Given the description of an element on the screen output the (x, y) to click on. 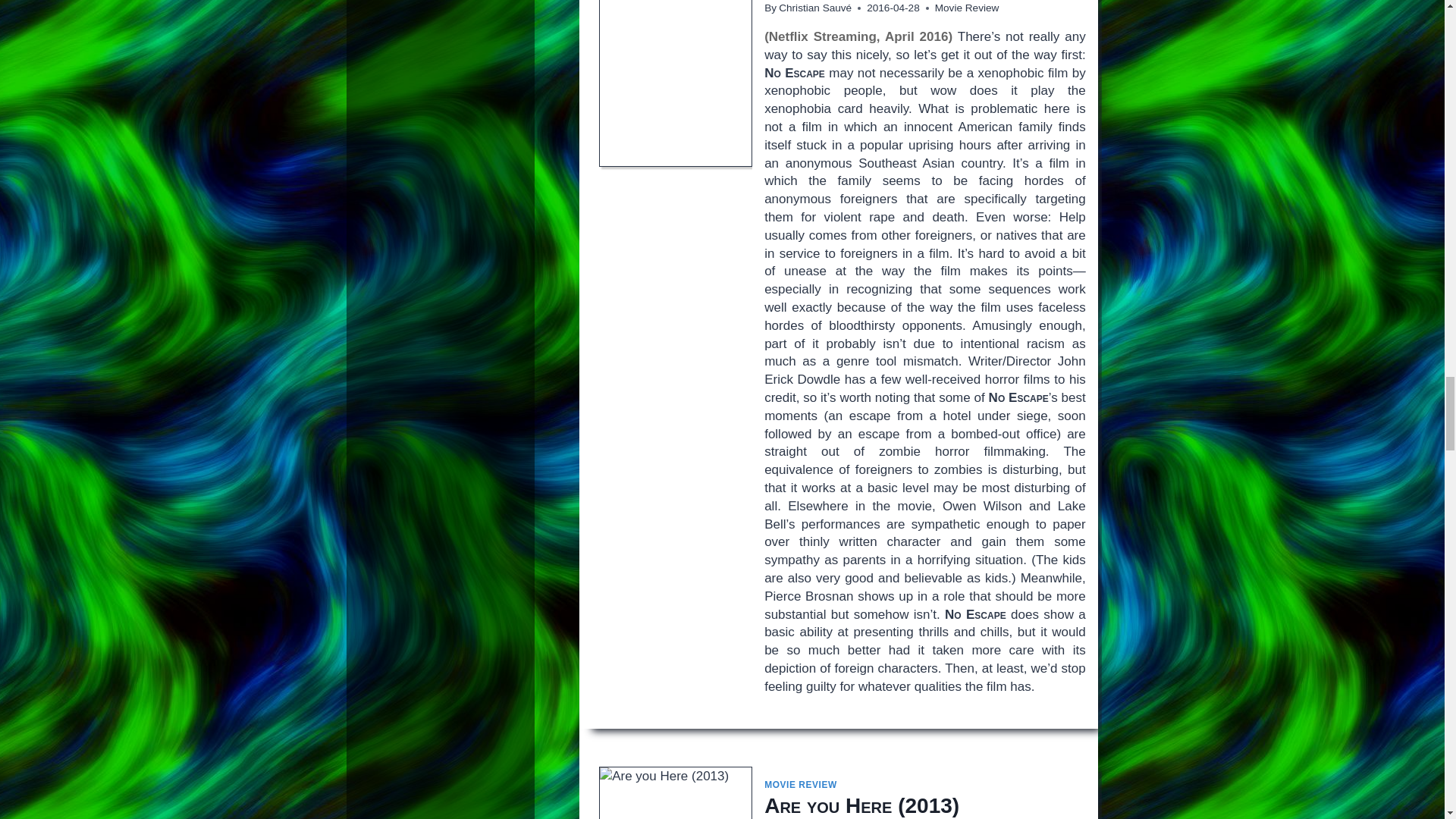
MOVIE REVIEW (800, 784)
Movie Review (966, 7)
